Given the description of an element on the screen output the (x, y) to click on. 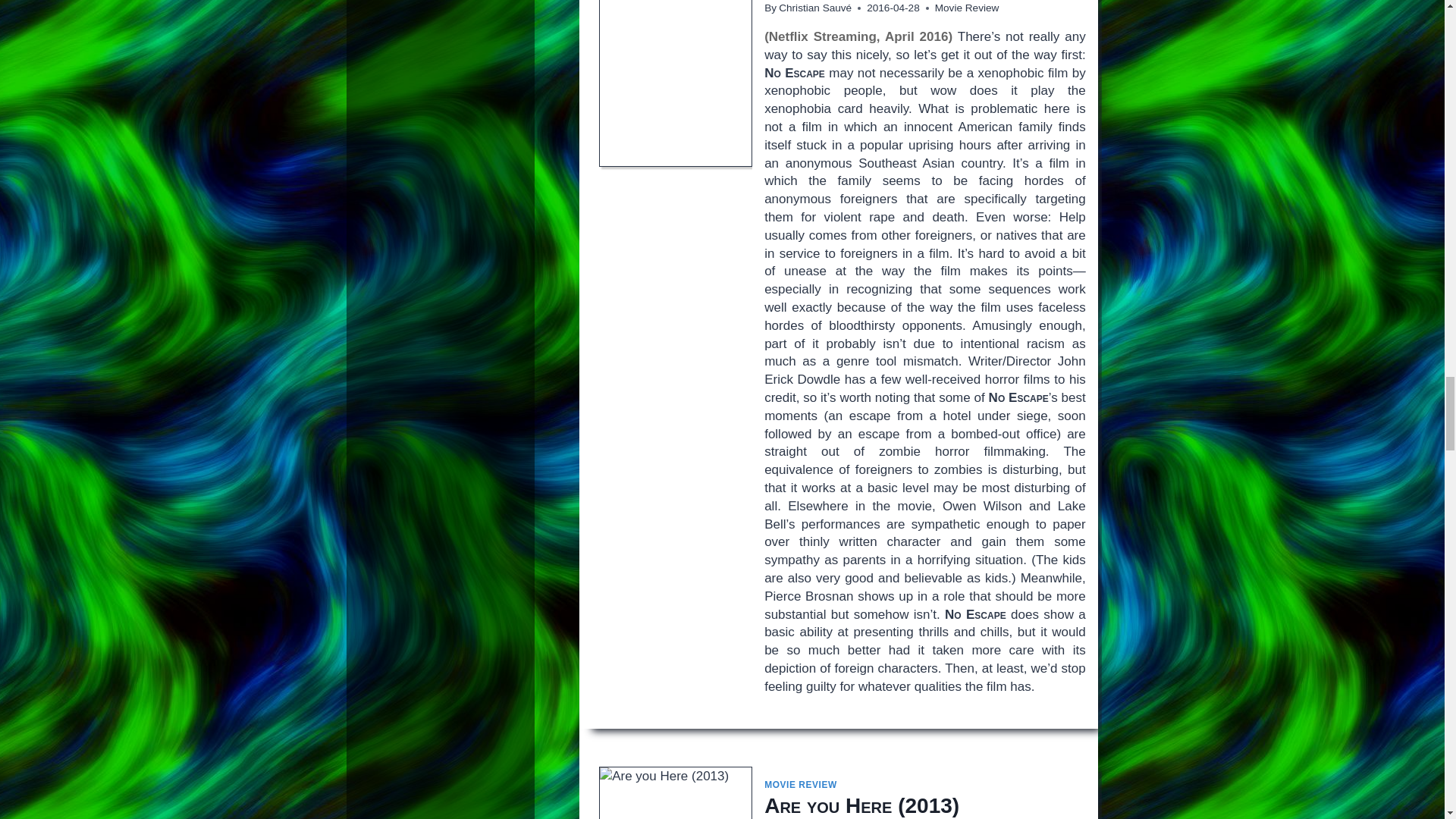
MOVIE REVIEW (800, 784)
Movie Review (966, 7)
